Given the description of an element on the screen output the (x, y) to click on. 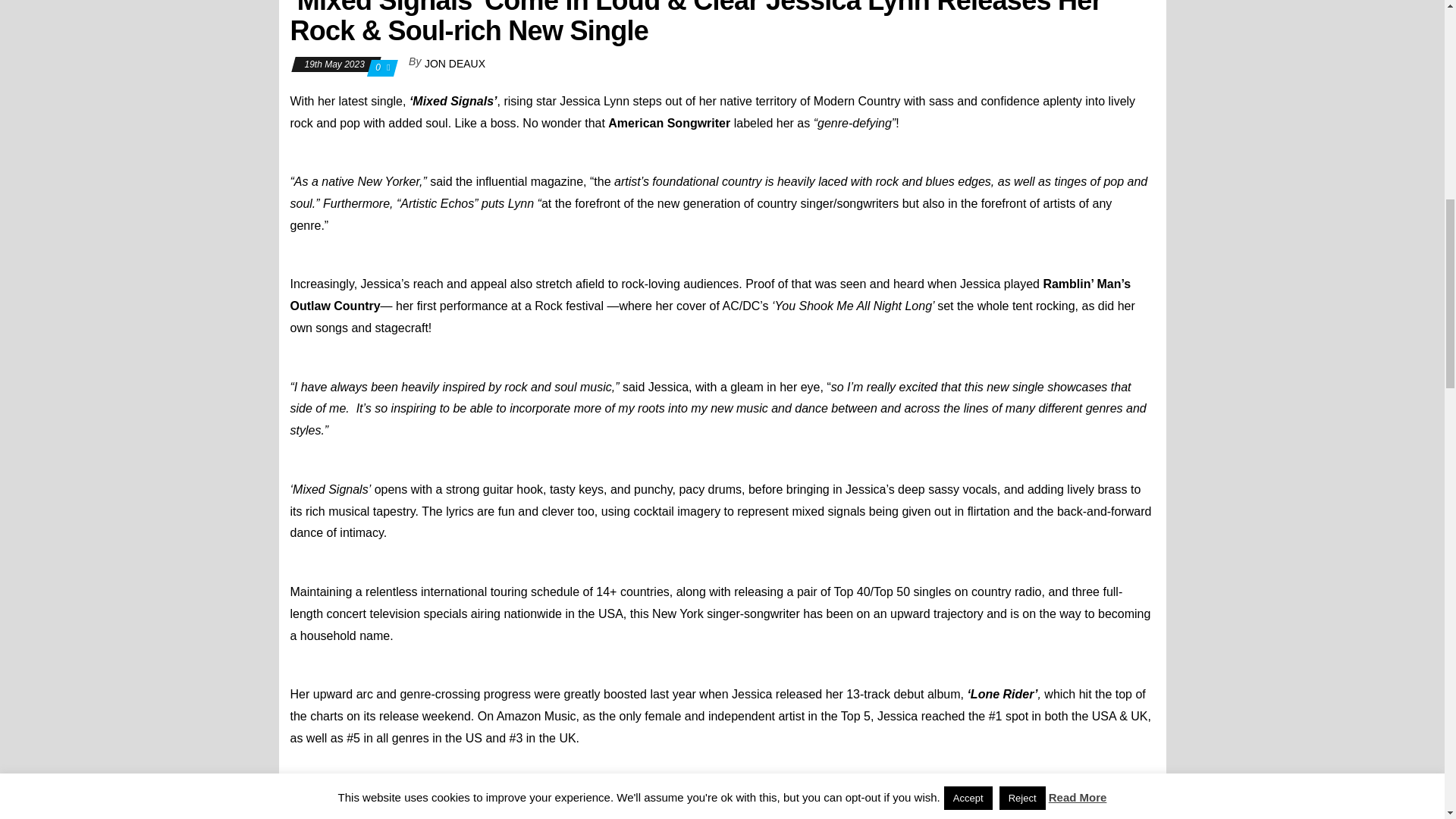
JON DEAUX (454, 63)
